Given the description of an element on the screen output the (x, y) to click on. 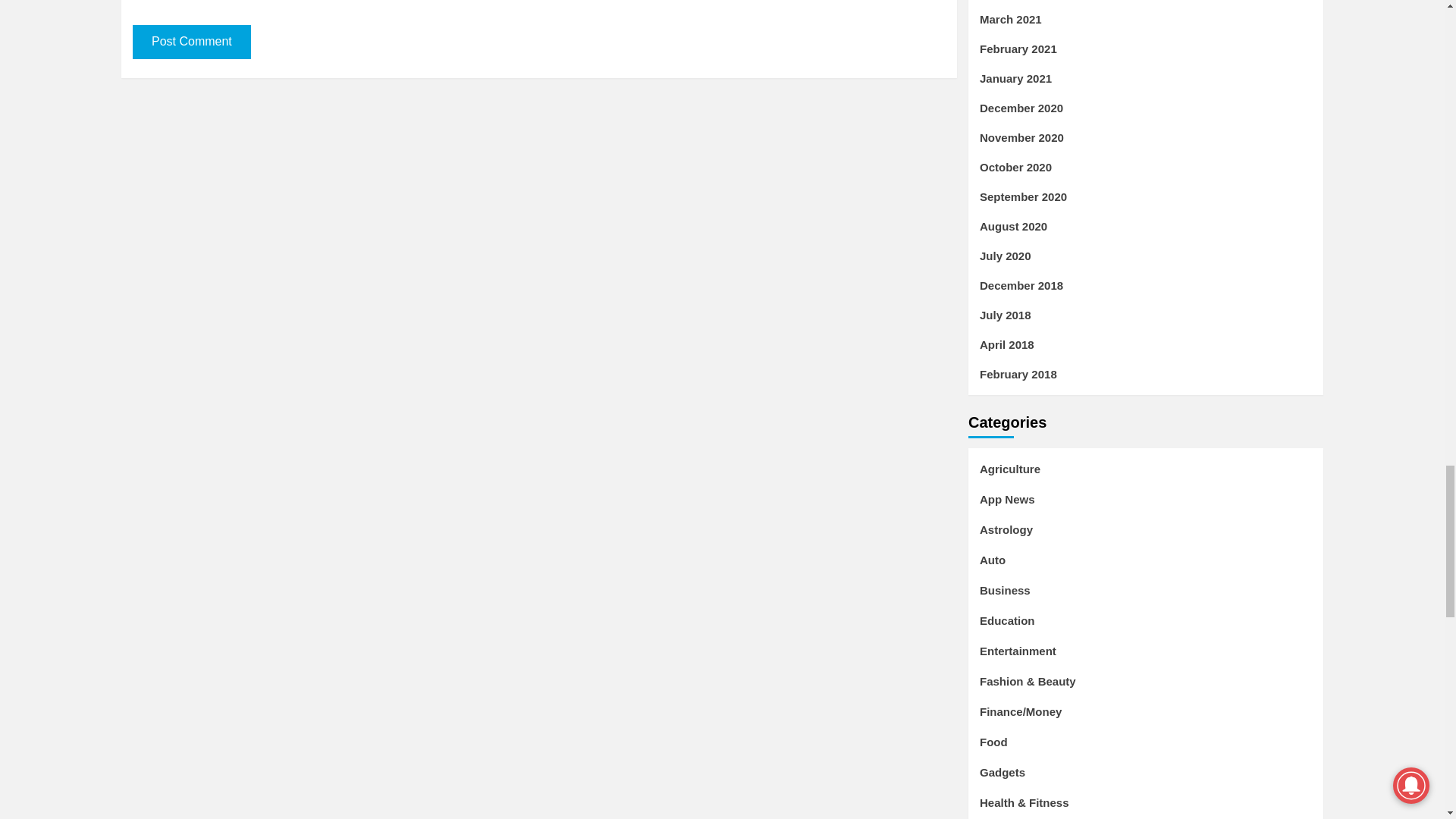
Post Comment (191, 41)
